Given the description of an element on the screen output the (x, y) to click on. 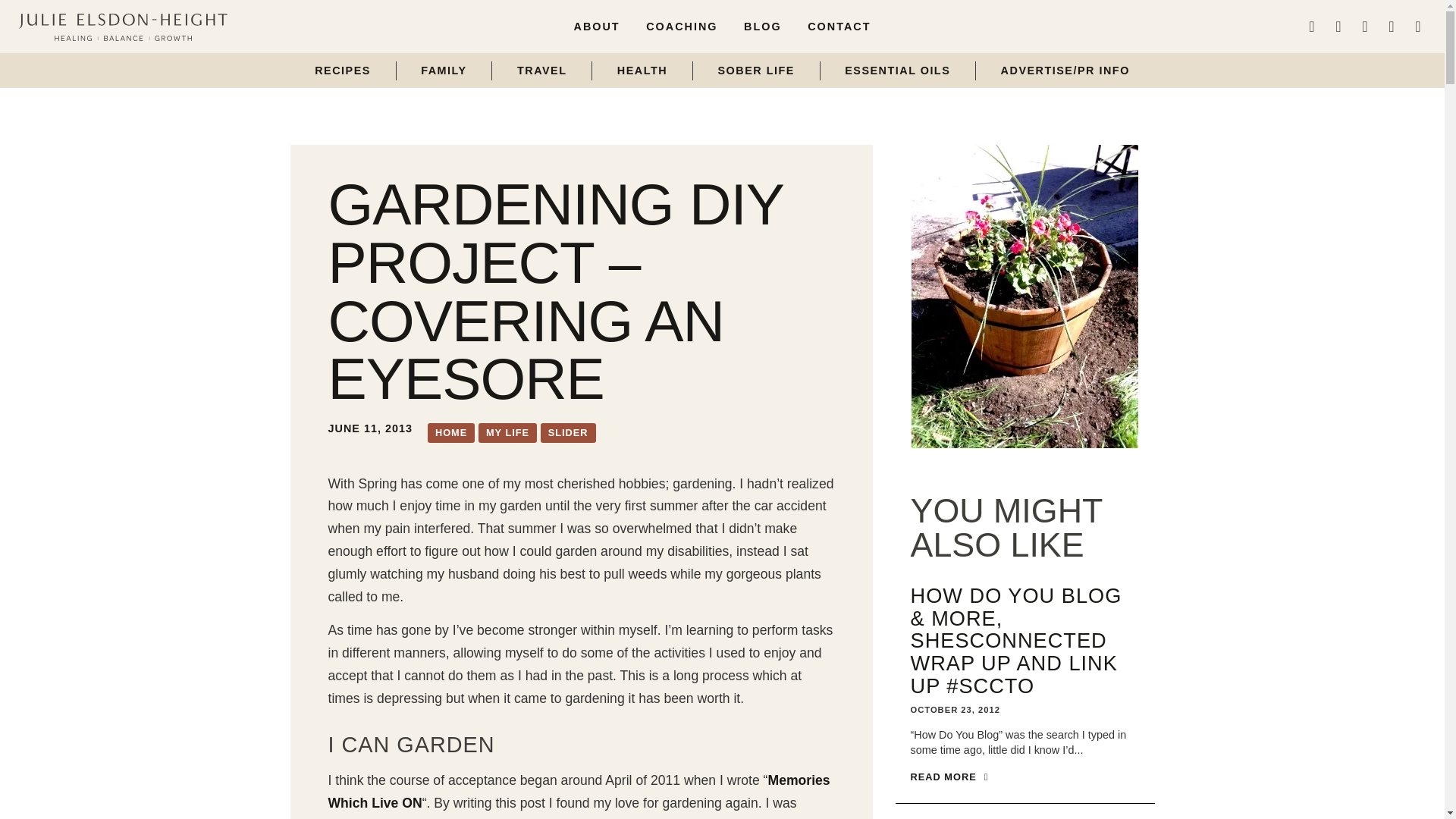
FAMILY (444, 70)
CONTACT (838, 26)
BLOG (762, 26)
COACHING (681, 26)
RECIPES (341, 70)
ABOUT (596, 26)
